Given the description of an element on the screen output the (x, y) to click on. 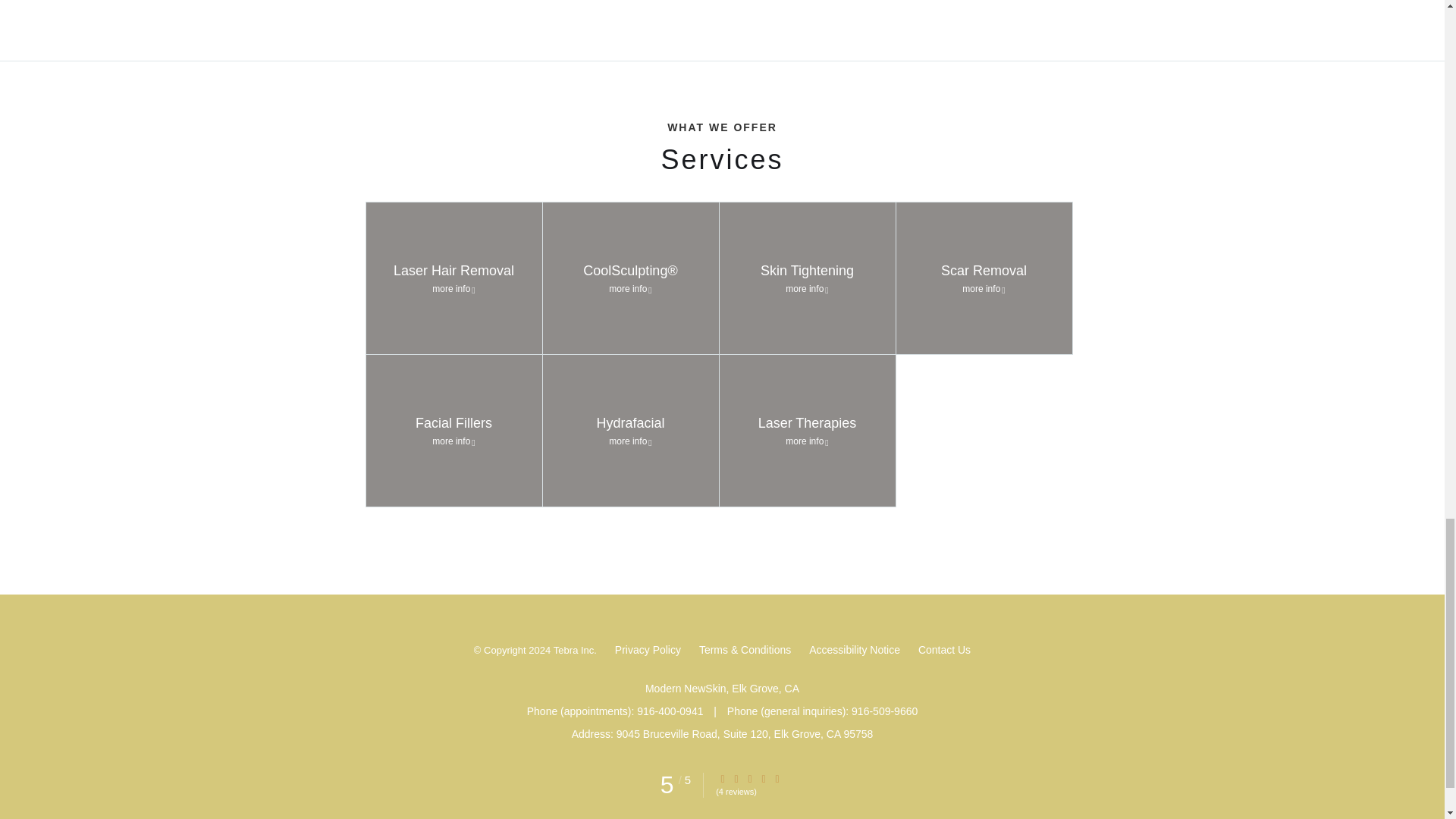
Star Rating (777, 778)
Star Rating (722, 778)
Star Rating (735, 778)
Star Rating (763, 778)
Star Rating (749, 778)
